Given the description of an element on the screen output the (x, y) to click on. 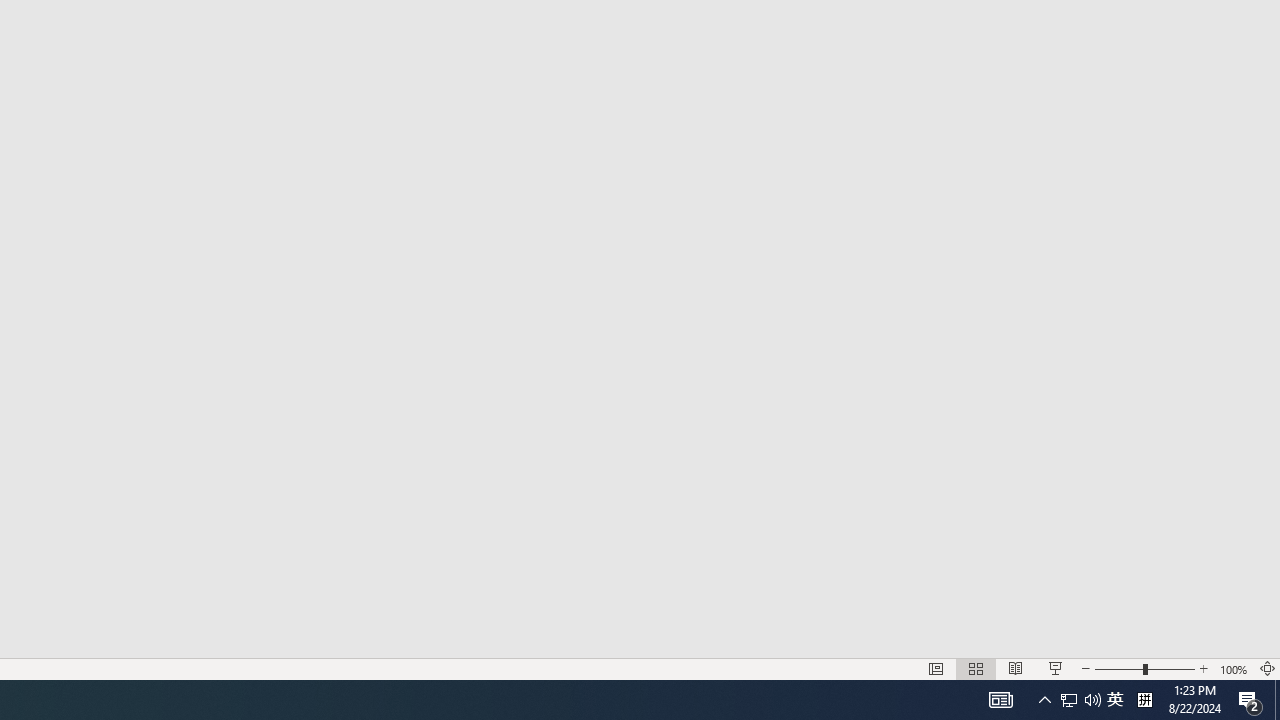
Zoom 100% (1234, 668)
